Given the description of an element on the screen output the (x, y) to click on. 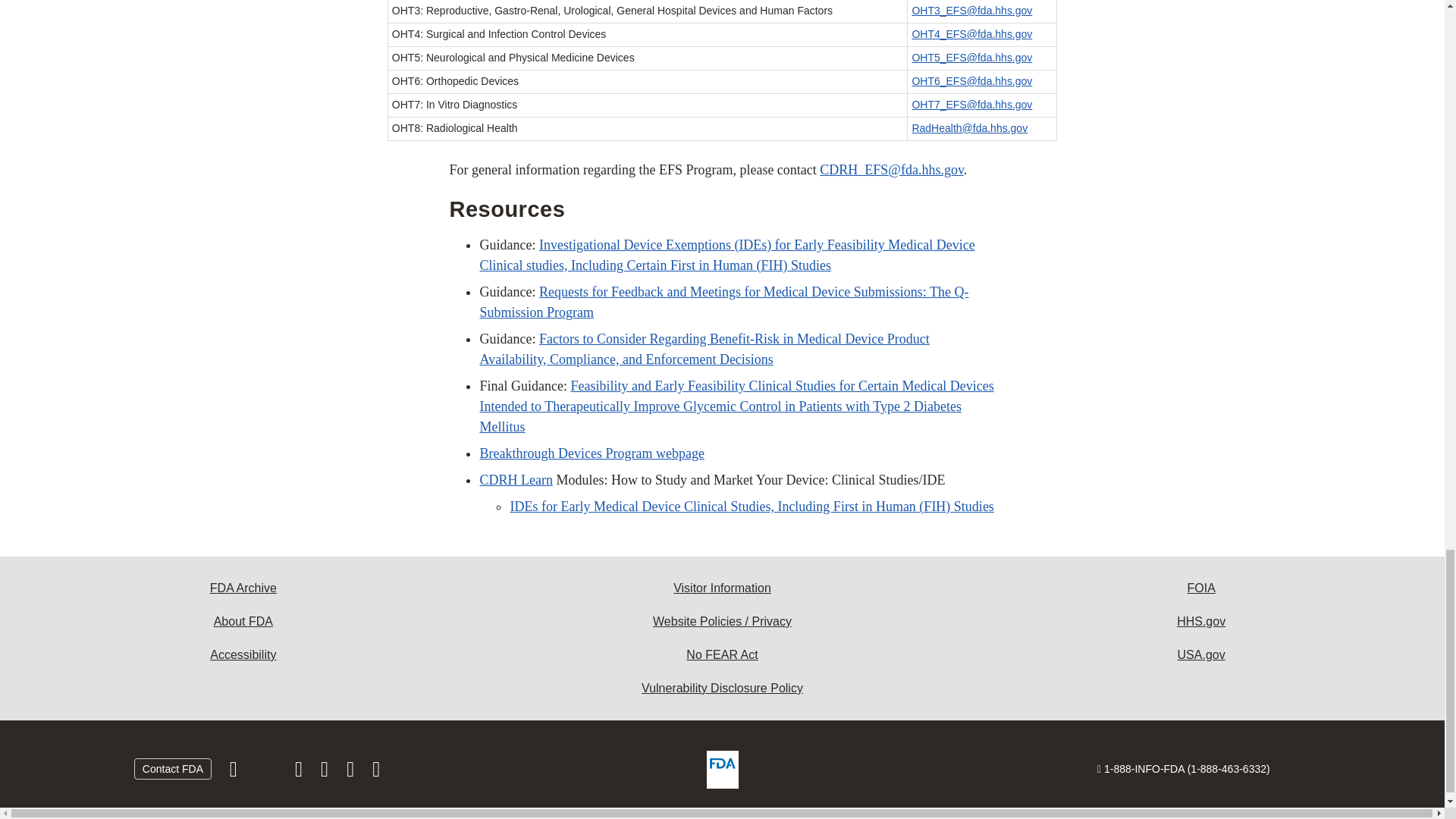
Health and Human Services (1200, 621)
CDRH Learn (515, 479)
Follow FDA on Facebook (234, 772)
Freedom of Information Act (1200, 588)
